Given the description of an element on the screen output the (x, y) to click on. 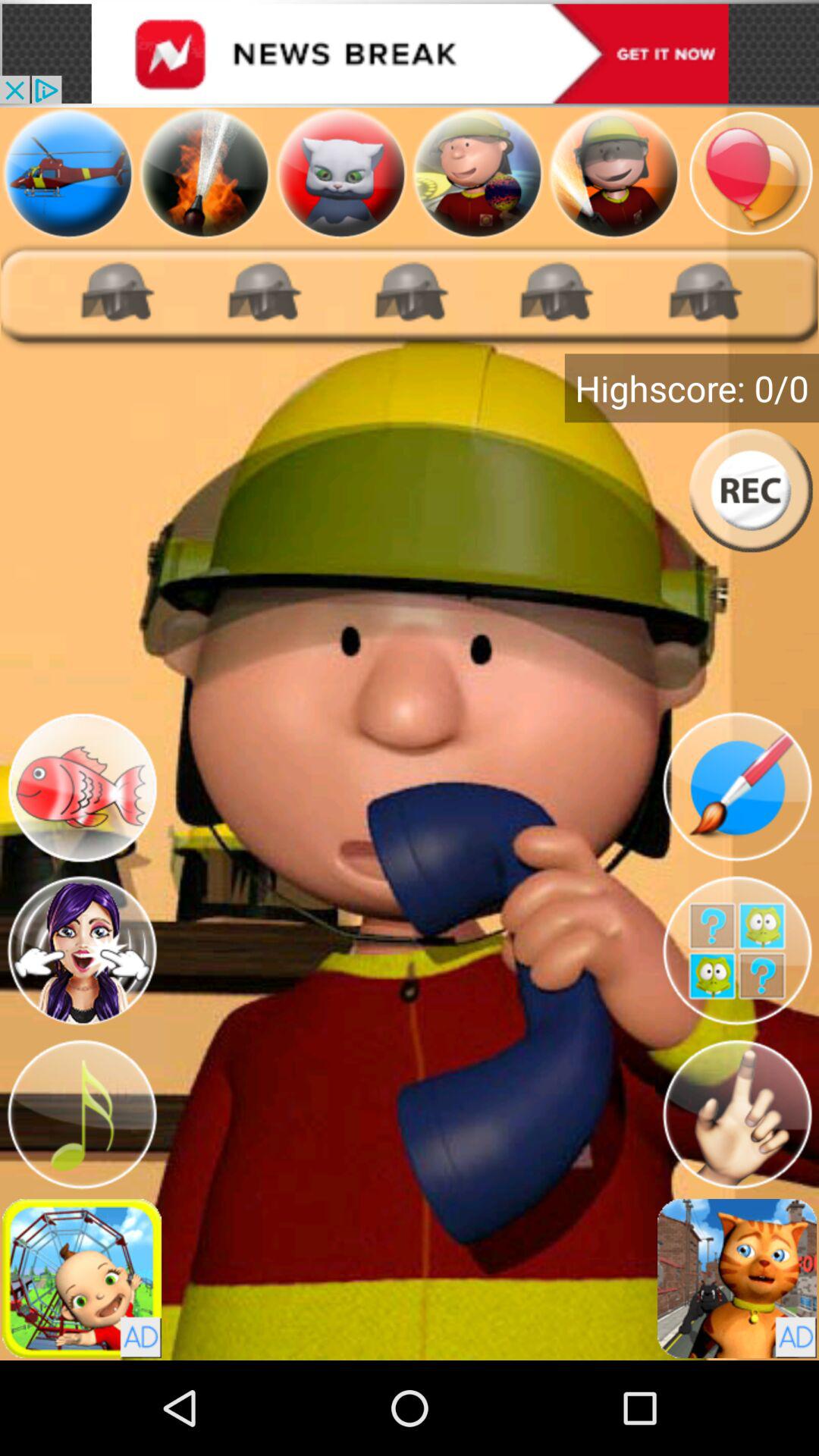
select avatar (614, 173)
